Given the description of an element on the screen output the (x, y) to click on. 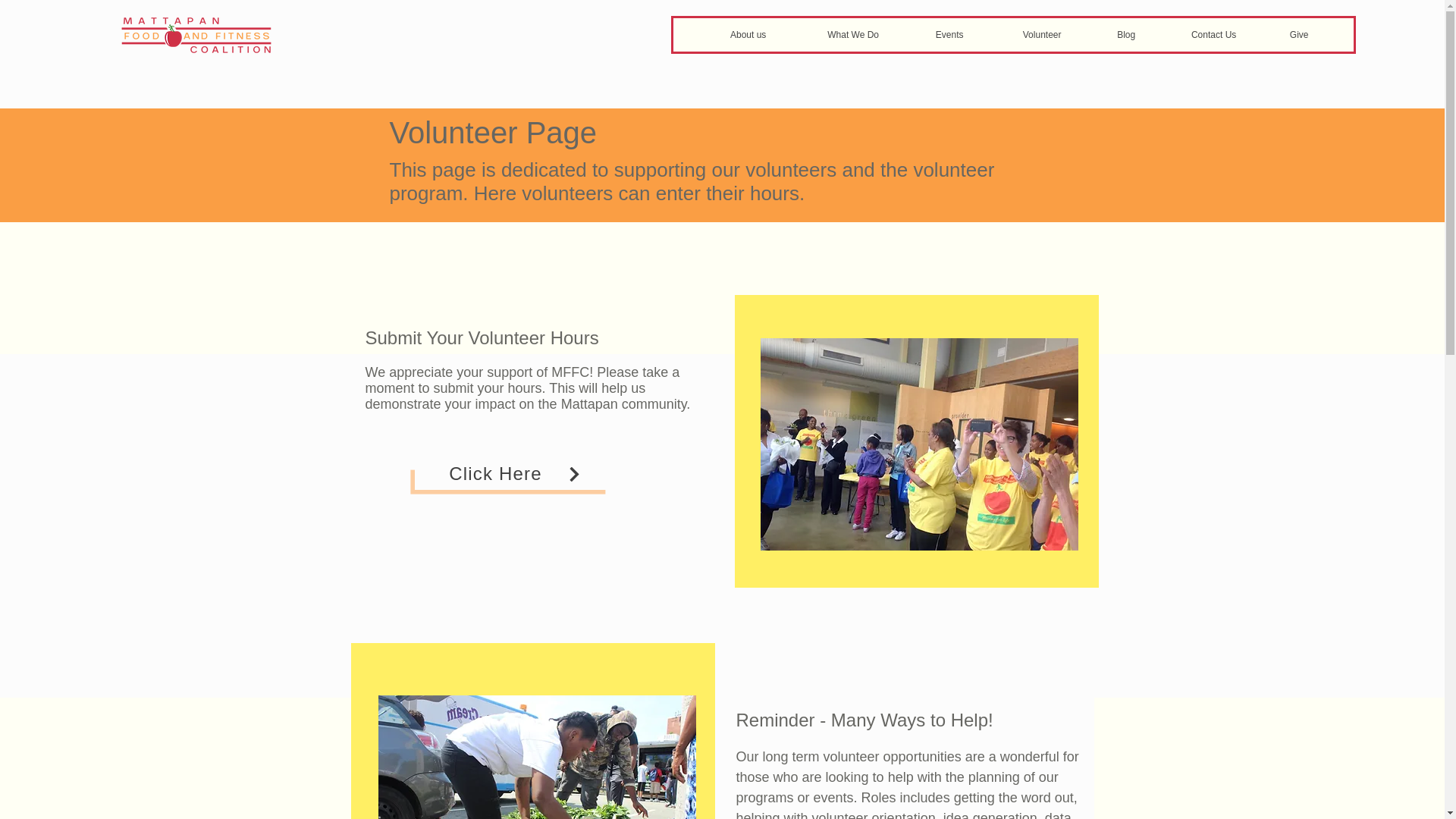
About us (747, 34)
Volunteer (1041, 34)
Give (1297, 34)
Blog (1125, 34)
What We Do (852, 34)
Contact Us (1212, 34)
Events (949, 34)
Click Here (514, 473)
